Given the description of an element on the screen output the (x, y) to click on. 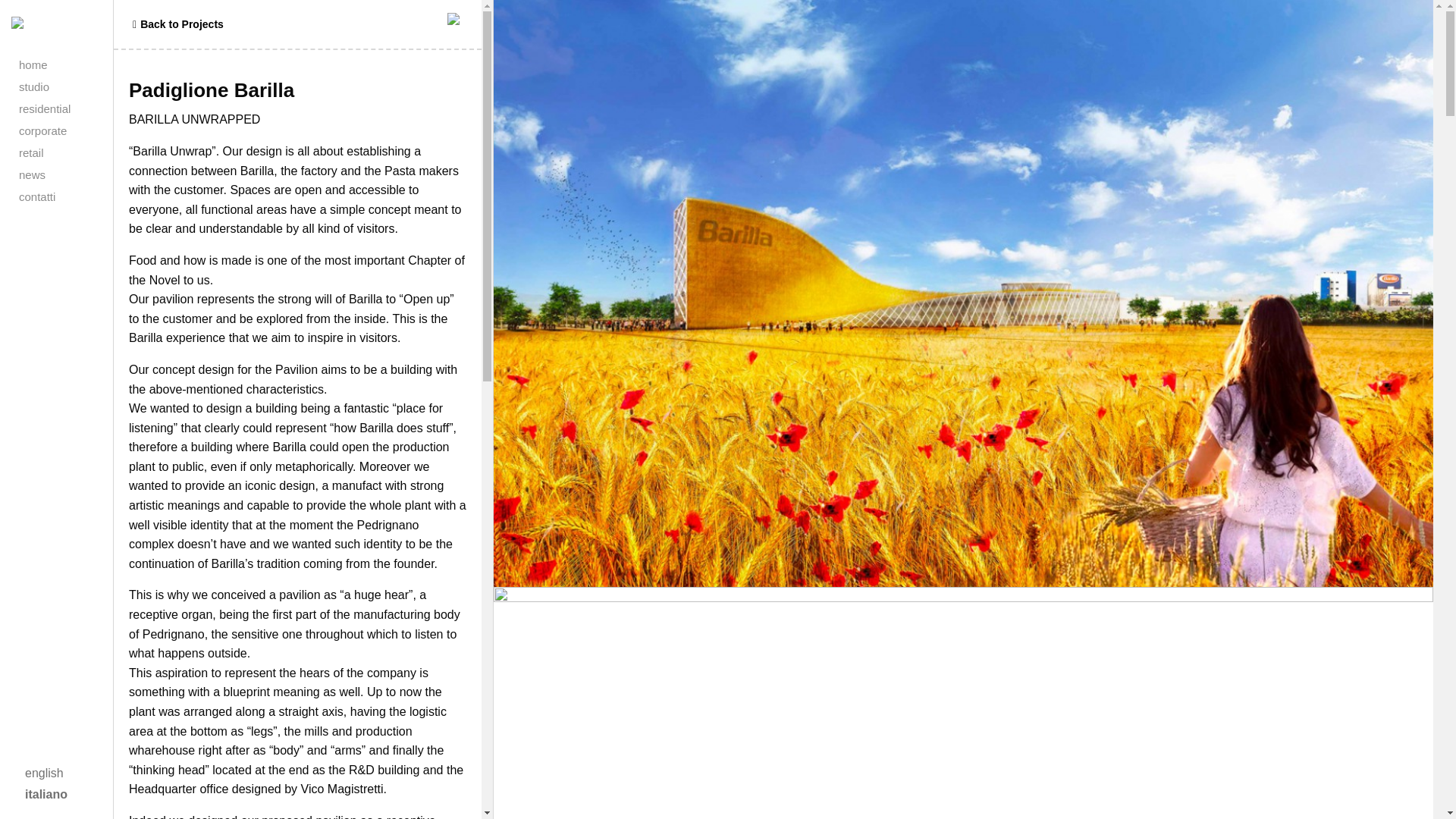
residential (68, 108)
news (68, 174)
retail (68, 152)
corporate (68, 130)
italiano (46, 794)
home (68, 65)
studio (68, 86)
english (44, 772)
Back to Projects (176, 24)
contatti (68, 196)
